Given the description of an element on the screen output the (x, y) to click on. 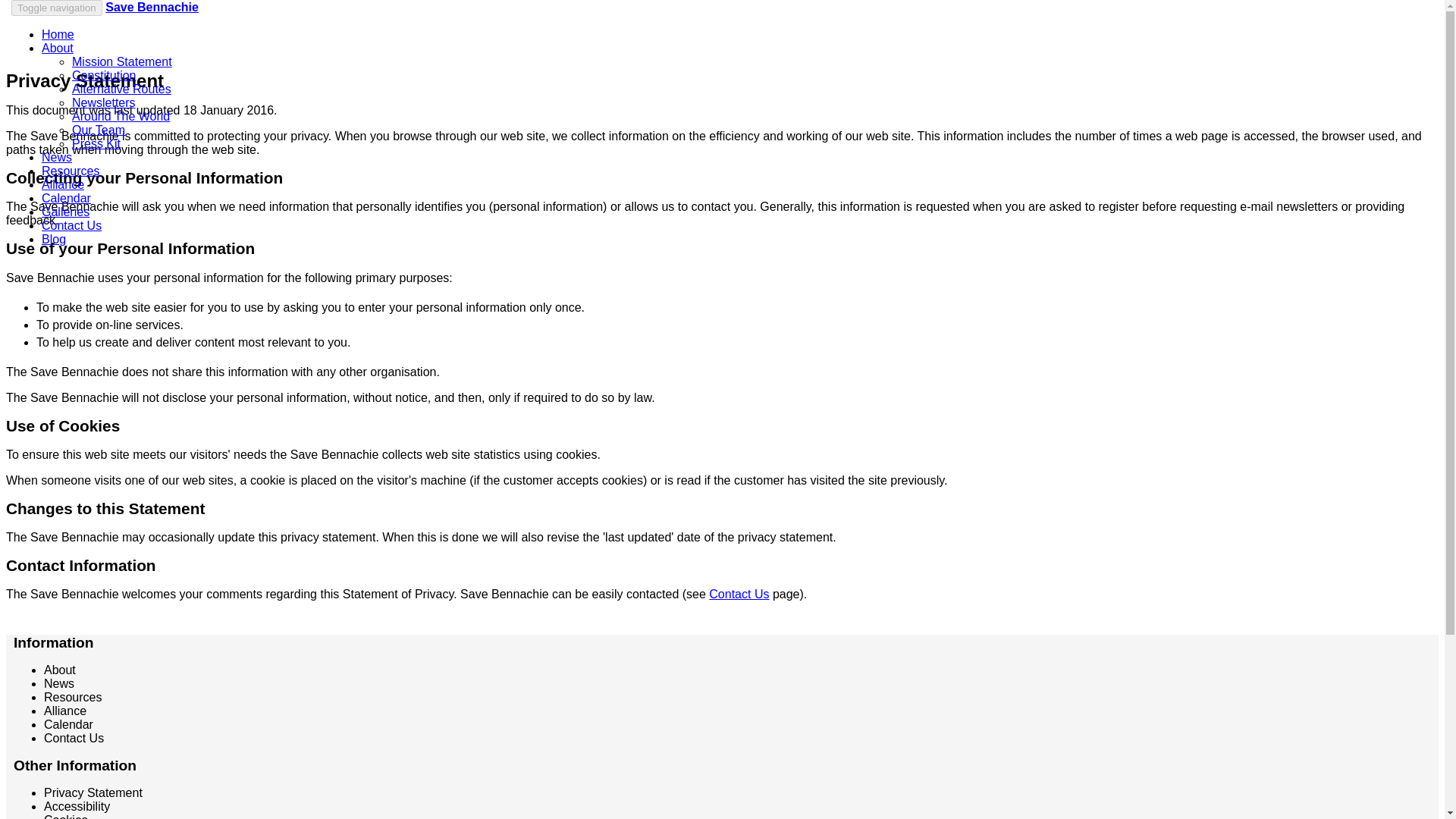
Resources (70, 170)
Constitution (103, 74)
Blog (53, 238)
Contact Us (71, 225)
Contact Us (73, 738)
About (58, 47)
Calendar (68, 724)
Press Kit (95, 143)
Toggle navigation (56, 7)
Calendar (66, 197)
Resources (72, 697)
Galleries (65, 211)
Alliance (63, 184)
Alternative Routes (121, 88)
Newsletters (103, 102)
